Given the description of an element on the screen output the (x, y) to click on. 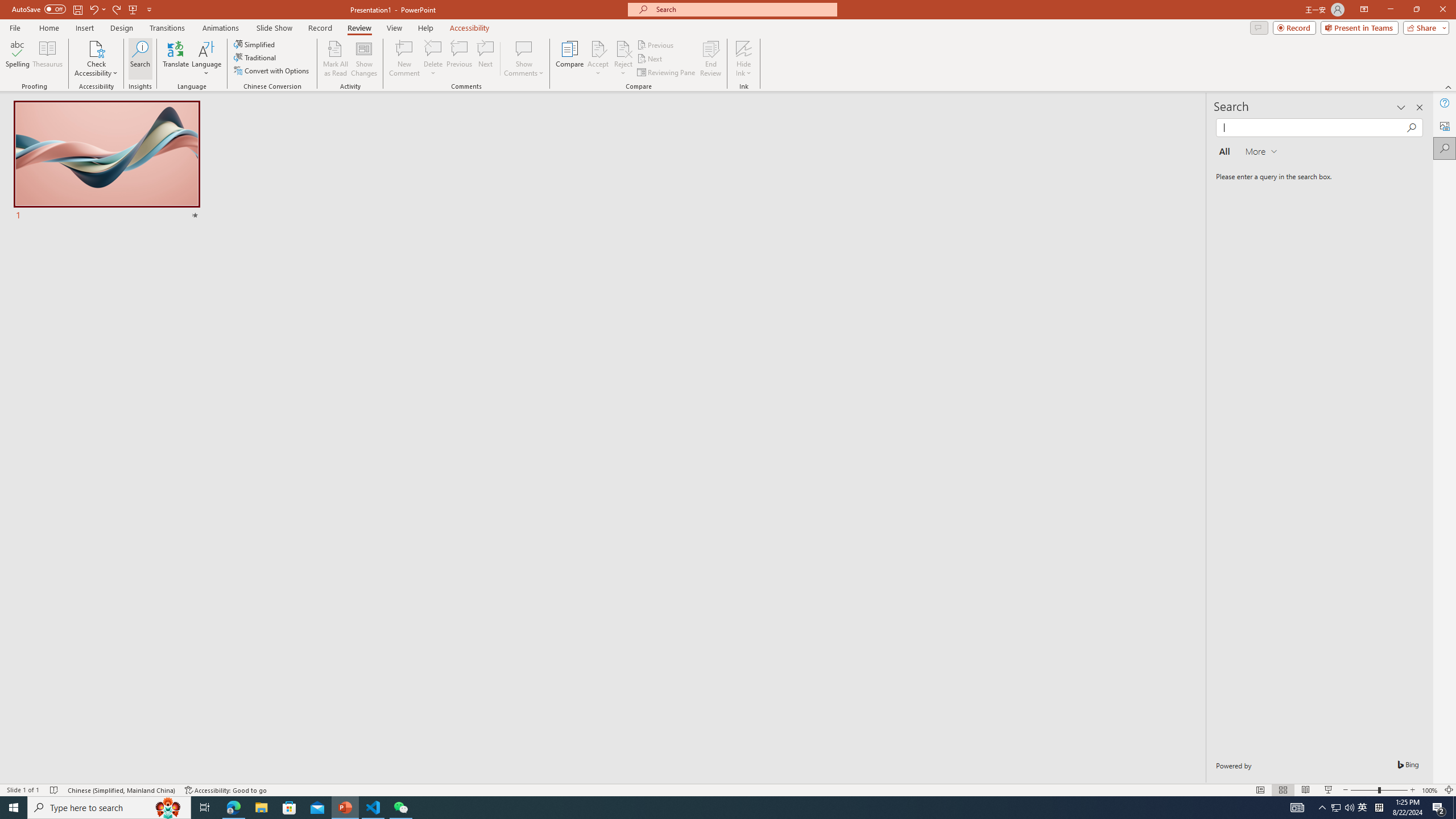
Zoom 100% (1430, 790)
Delete (432, 48)
Thesaurus... (47, 58)
Next (649, 58)
Accessibility Checker Accessibility: Good to go (226, 790)
